Given the description of an element on the screen output the (x, y) to click on. 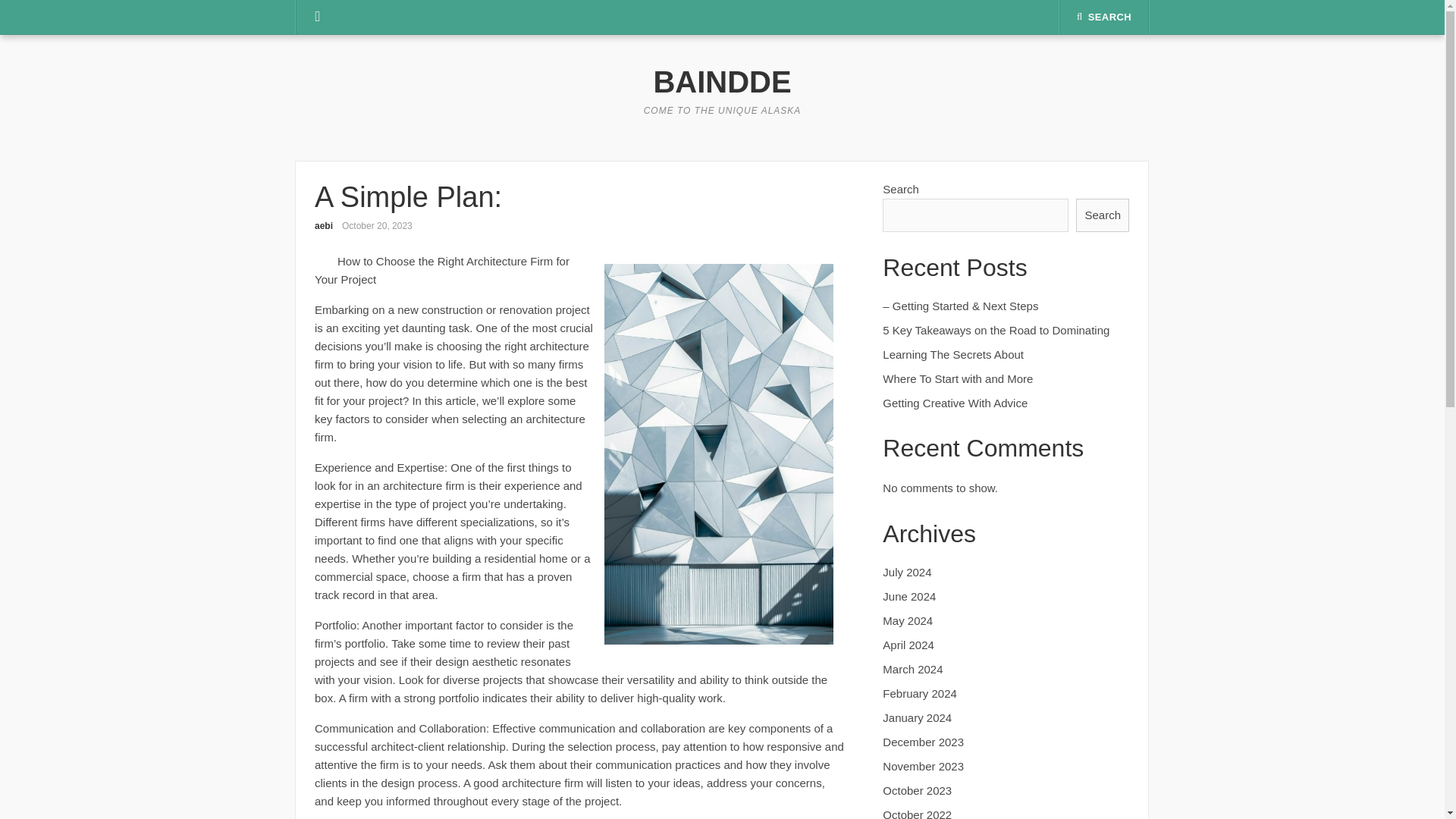
June 2024 (909, 595)
November 2023 (922, 766)
SEARCH (1104, 16)
March 2024 (912, 668)
April 2024 (908, 644)
October 2023 (917, 789)
July 2024 (906, 571)
October 2022 (917, 813)
Learning The Secrets About (952, 354)
December 2023 (922, 741)
Search (1102, 215)
January 2024 (917, 717)
Where To Start with and More (957, 378)
February 2024 (919, 693)
Getting Creative With Advice (954, 402)
